Given the description of an element on the screen output the (x, y) to click on. 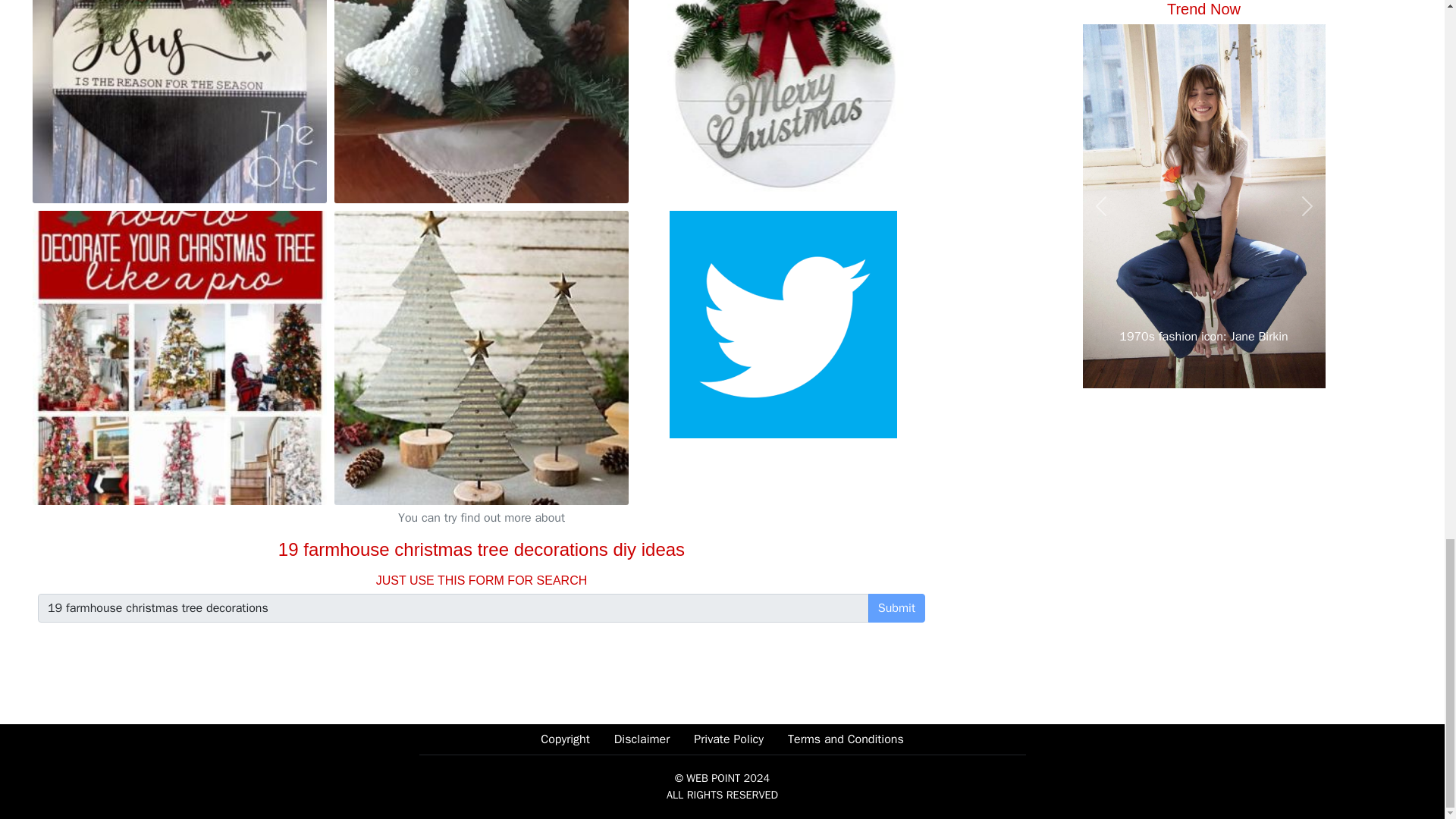
19 farmhouse christmas tree decorations (453, 607)
Submit (895, 607)
